Given the description of an element on the screen output the (x, y) to click on. 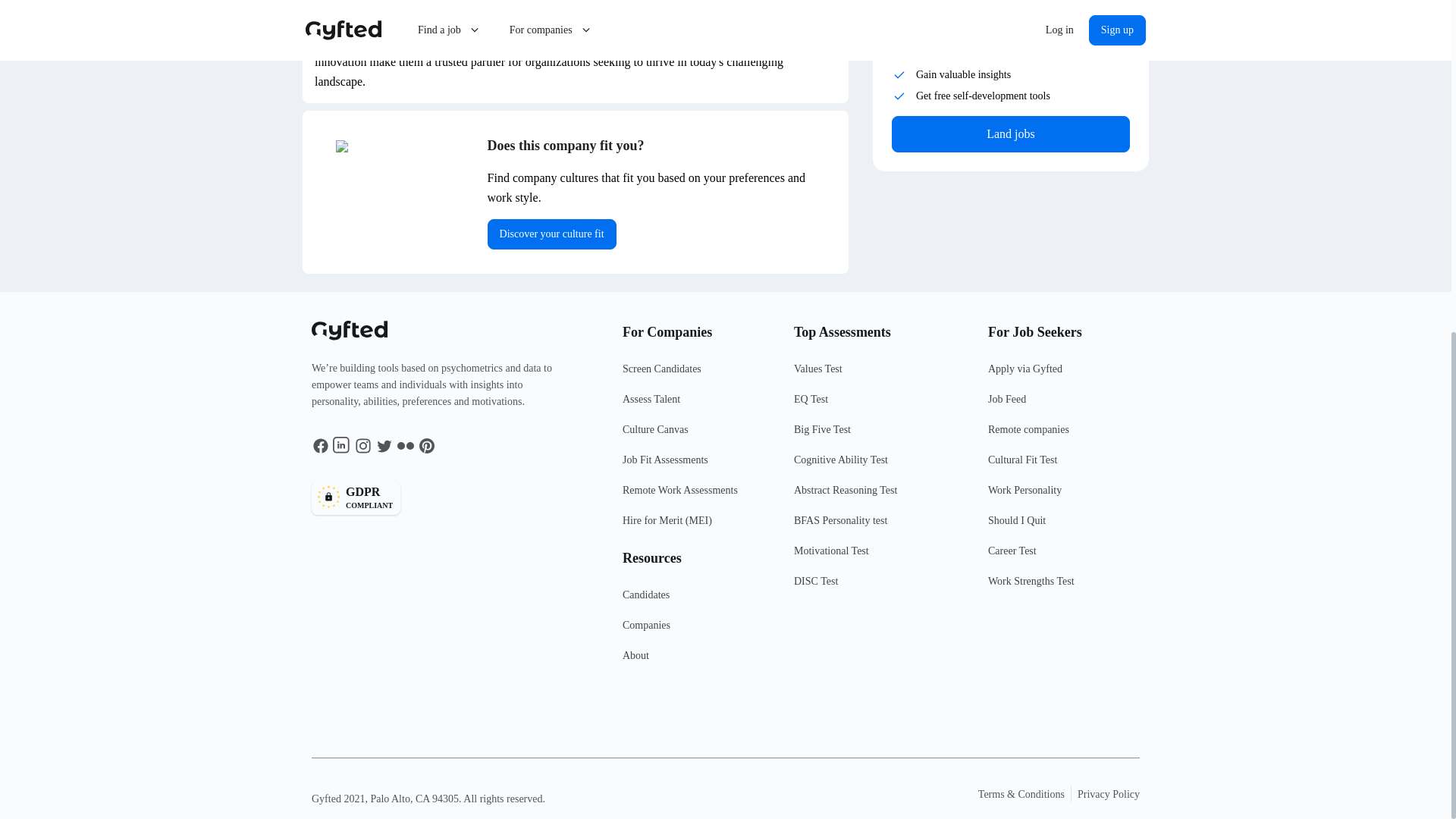
Remote Work Assessments (698, 496)
Discover your culture fit (551, 234)
Companies (698, 631)
Screen Candidates (442, 498)
Values Test (698, 375)
Candidates (880, 375)
Land jobs (698, 601)
Culture Canvas (1010, 134)
Job Fit Assessments (698, 435)
